Given the description of an element on the screen output the (x, y) to click on. 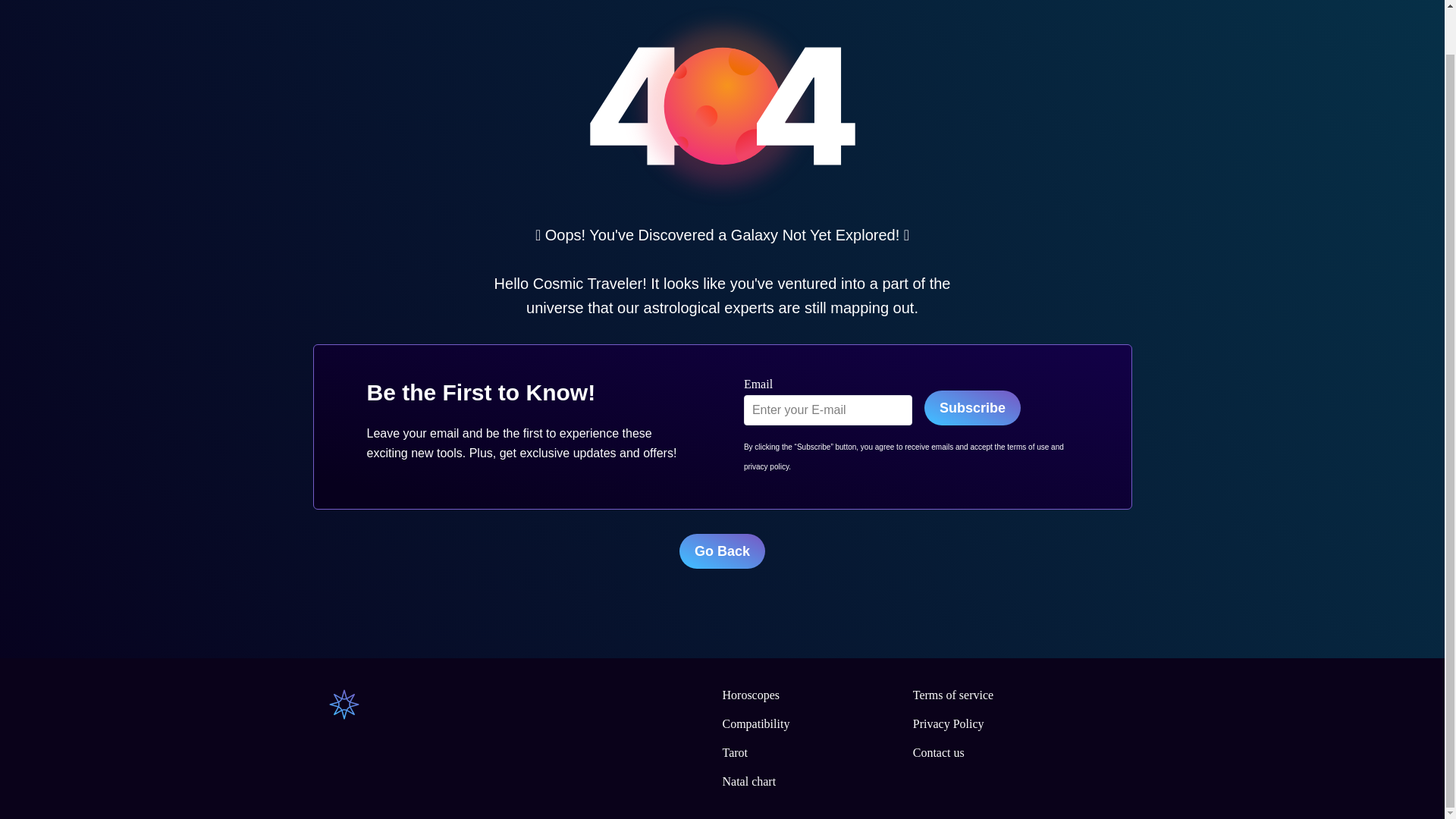
Compatibility (755, 723)
Go Back (722, 550)
Natal chart (749, 780)
Terms of service (952, 694)
Tarot (735, 752)
Privacy Policy (948, 723)
Horoscopes (750, 694)
Subscribe (972, 407)
Contact us (937, 752)
